Given the description of an element on the screen output the (x, y) to click on. 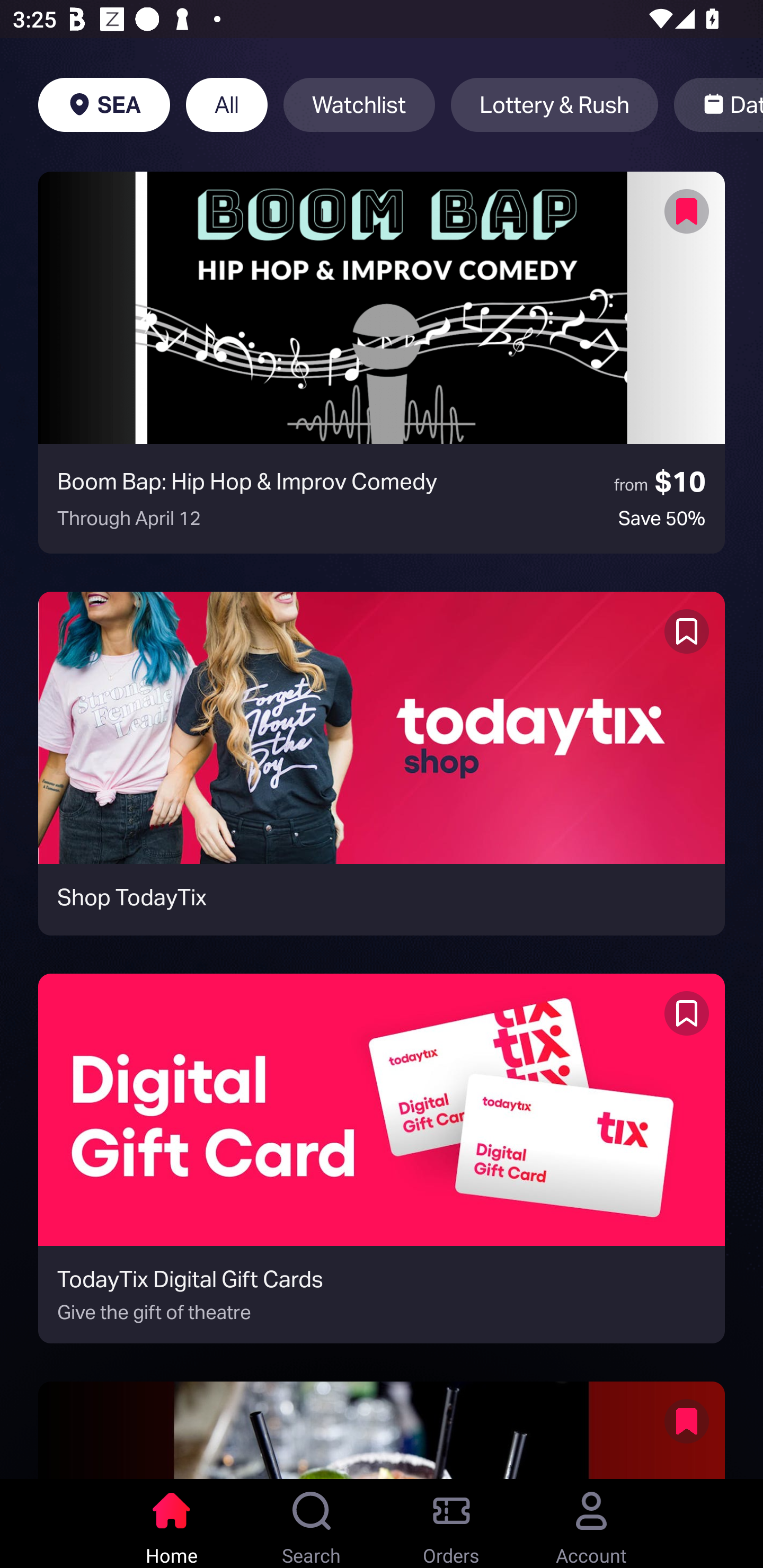
SEA (104, 104)
All (226, 104)
Watchlist (358, 104)
Lottery & Rush (553, 104)
Shop TodayTix (381, 763)
Search (311, 1523)
Orders (451, 1523)
Account (591, 1523)
